Given the description of an element on the screen output the (x, y) to click on. 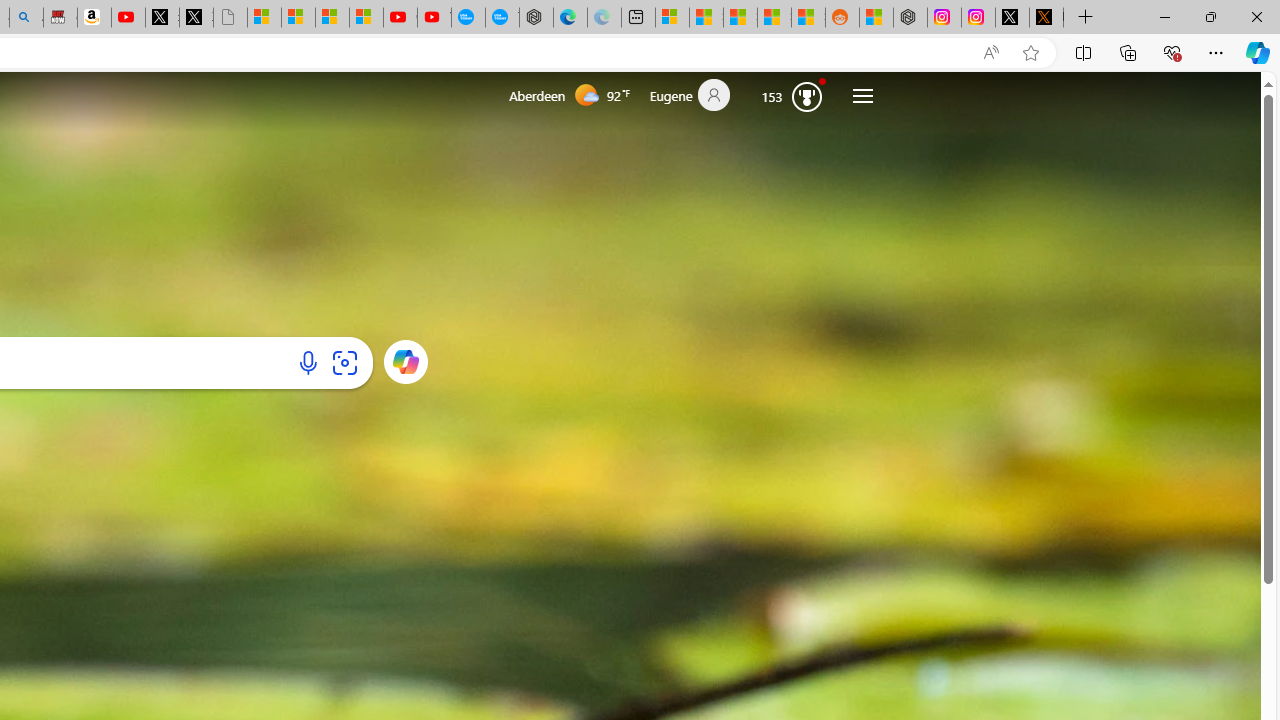
Shanghai, China hourly forecast | Microsoft Weather (740, 17)
Log in to X / X (1012, 17)
Read aloud this page (Ctrl+Shift+U) (991, 53)
Amazon Echo Dot PNG - Search Images (26, 17)
Nordace - Summer Adventures 2024 (909, 17)
Eugene (697, 95)
Class: medal-circled (806, 96)
Shanghai, China Weather trends | Microsoft Weather (808, 17)
